Given the description of an element on the screen output the (x, y) to click on. 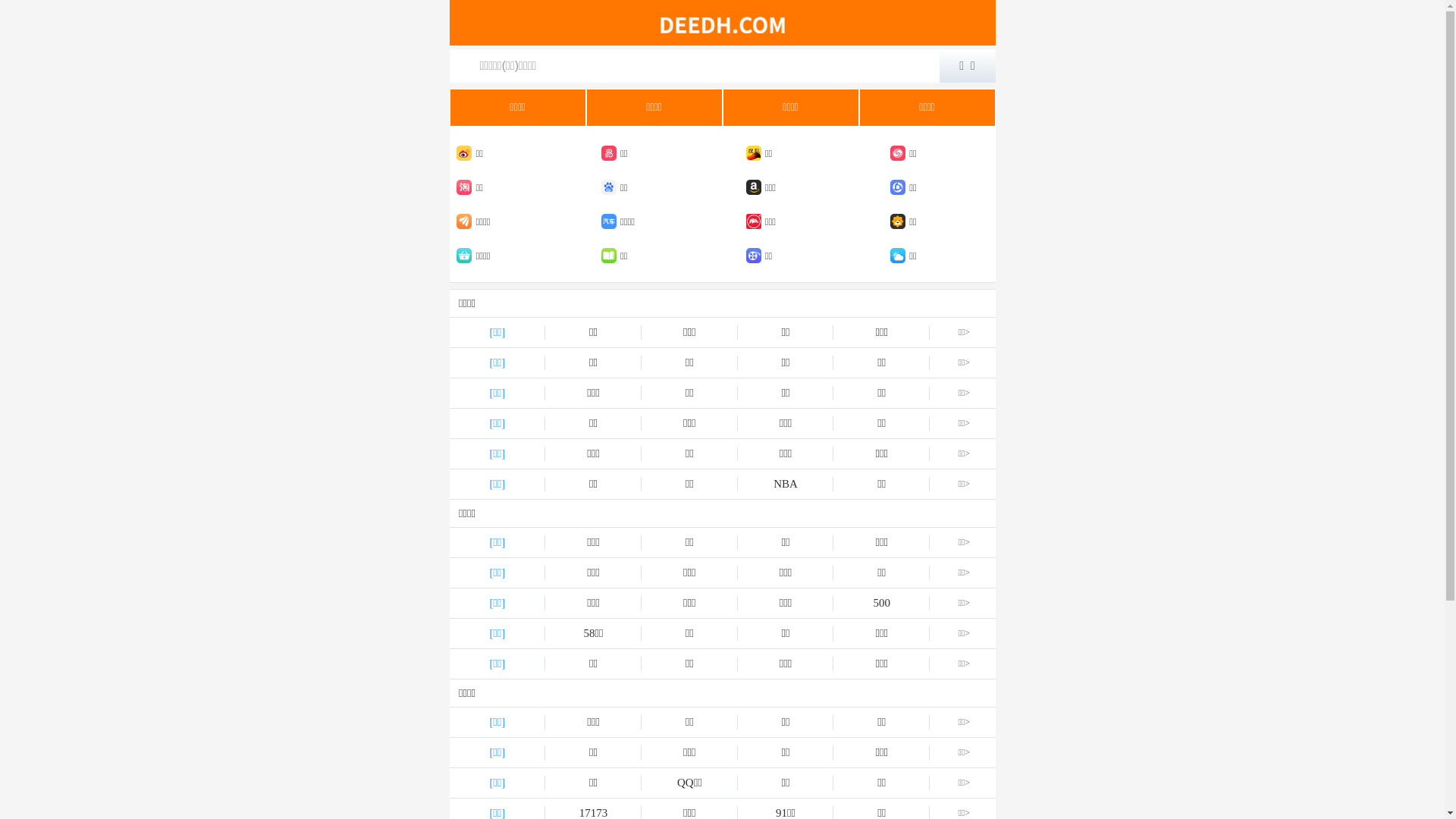
NBA Element type: text (785, 483)
500 Element type: text (881, 603)
